Given the description of an element on the screen output the (x, y) to click on. 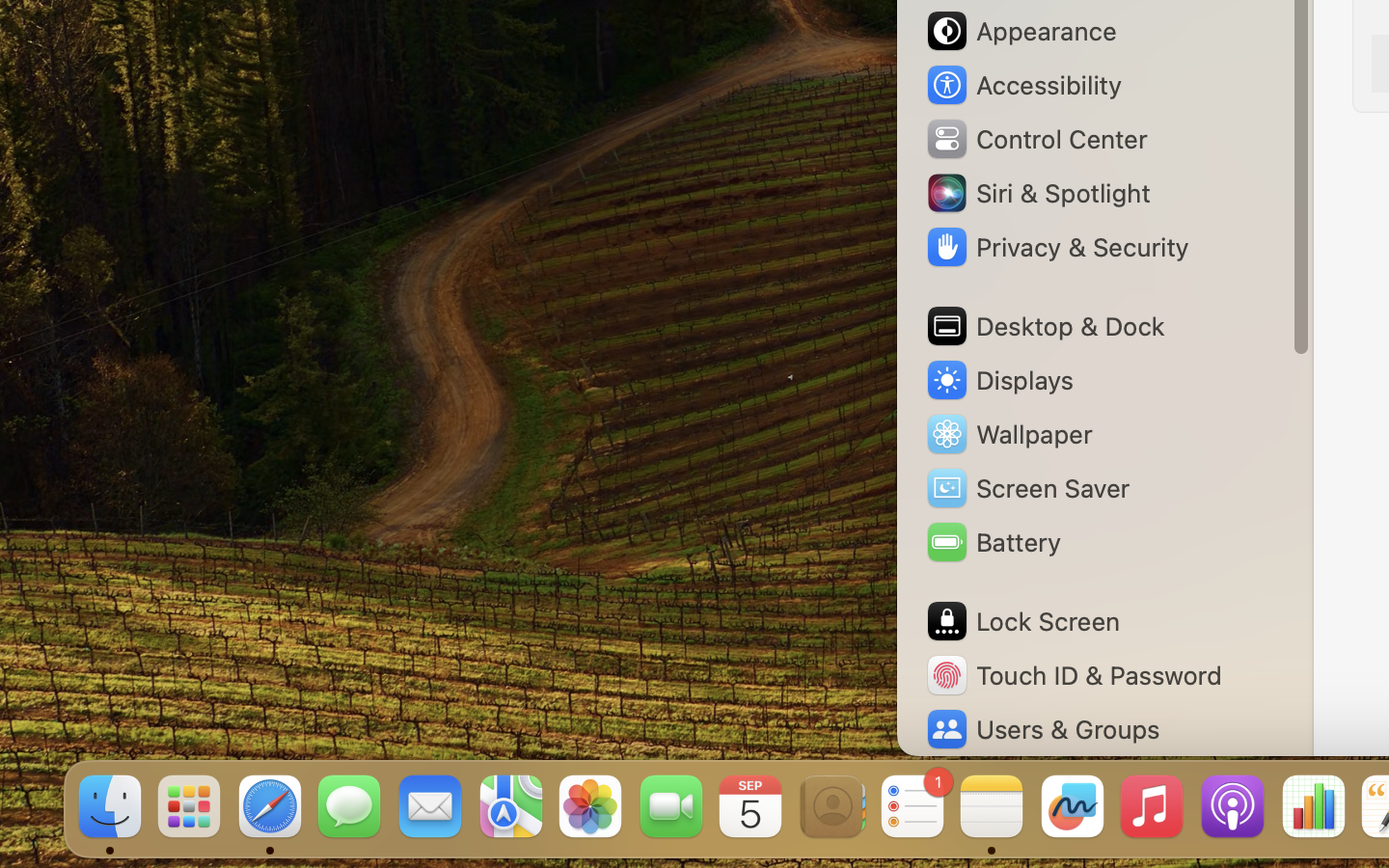
Touch ID & Password Element type: AXStaticText (1073, 674)
Battery Element type: AXStaticText (992, 541)
Privacy & Security Element type: AXStaticText (1056, 246)
Wallpaper Element type: AXStaticText (1007, 433)
Lock Screen Element type: AXStaticText (1022, 620)
